Given the description of an element on the screen output the (x, y) to click on. 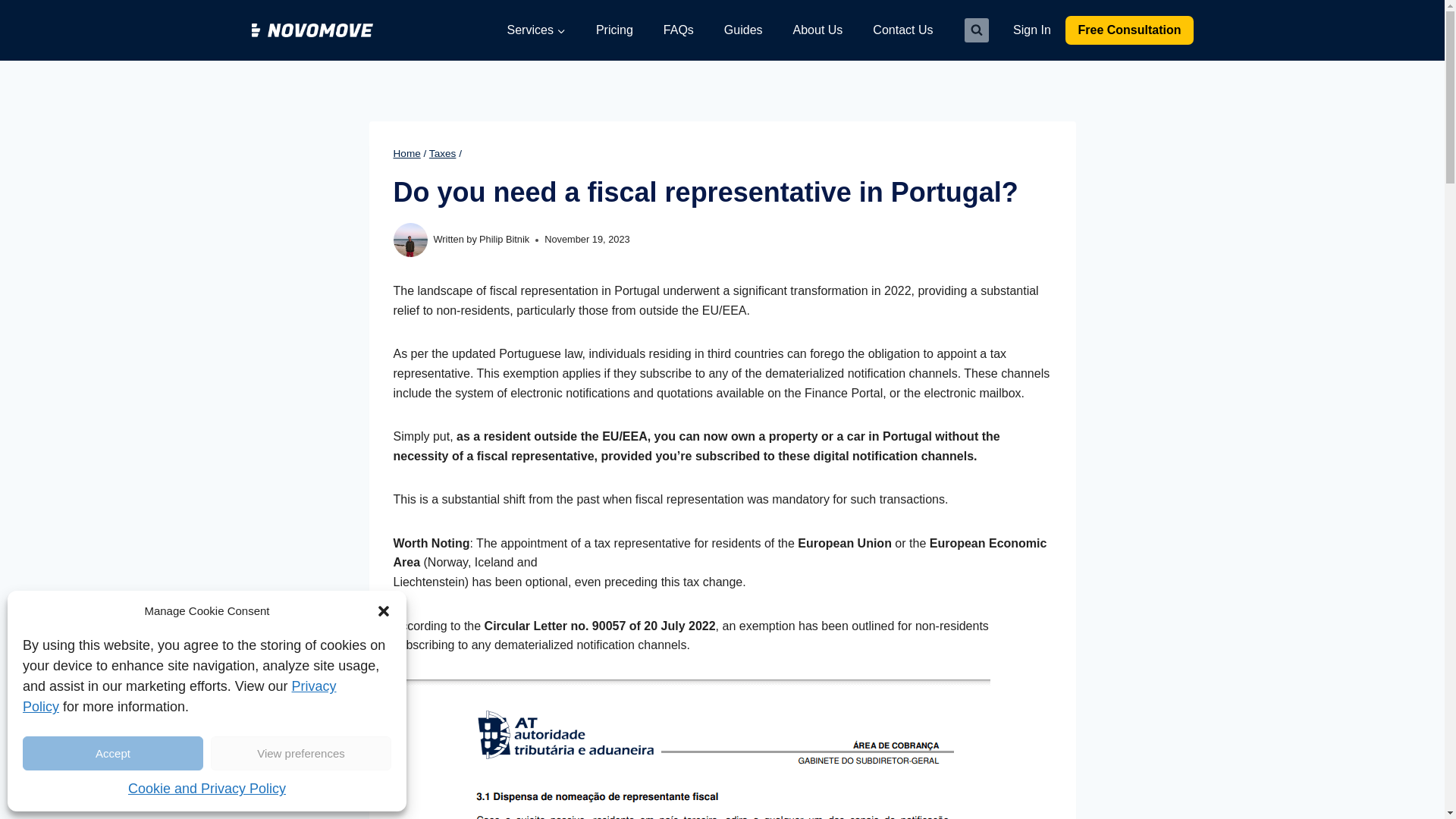
Home (406, 153)
Cookie and Privacy Policy (206, 789)
Pricing (613, 30)
FAQs (678, 30)
Guides (743, 30)
Accept (113, 753)
Philip Bitnik (504, 238)
Sign In (1032, 30)
Taxes (443, 153)
Services (536, 30)
About Us (818, 30)
View preferences (301, 753)
Privacy Policy (179, 696)
Free Consultation (1128, 30)
Contact Us (902, 30)
